Given the description of an element on the screen output the (x, y) to click on. 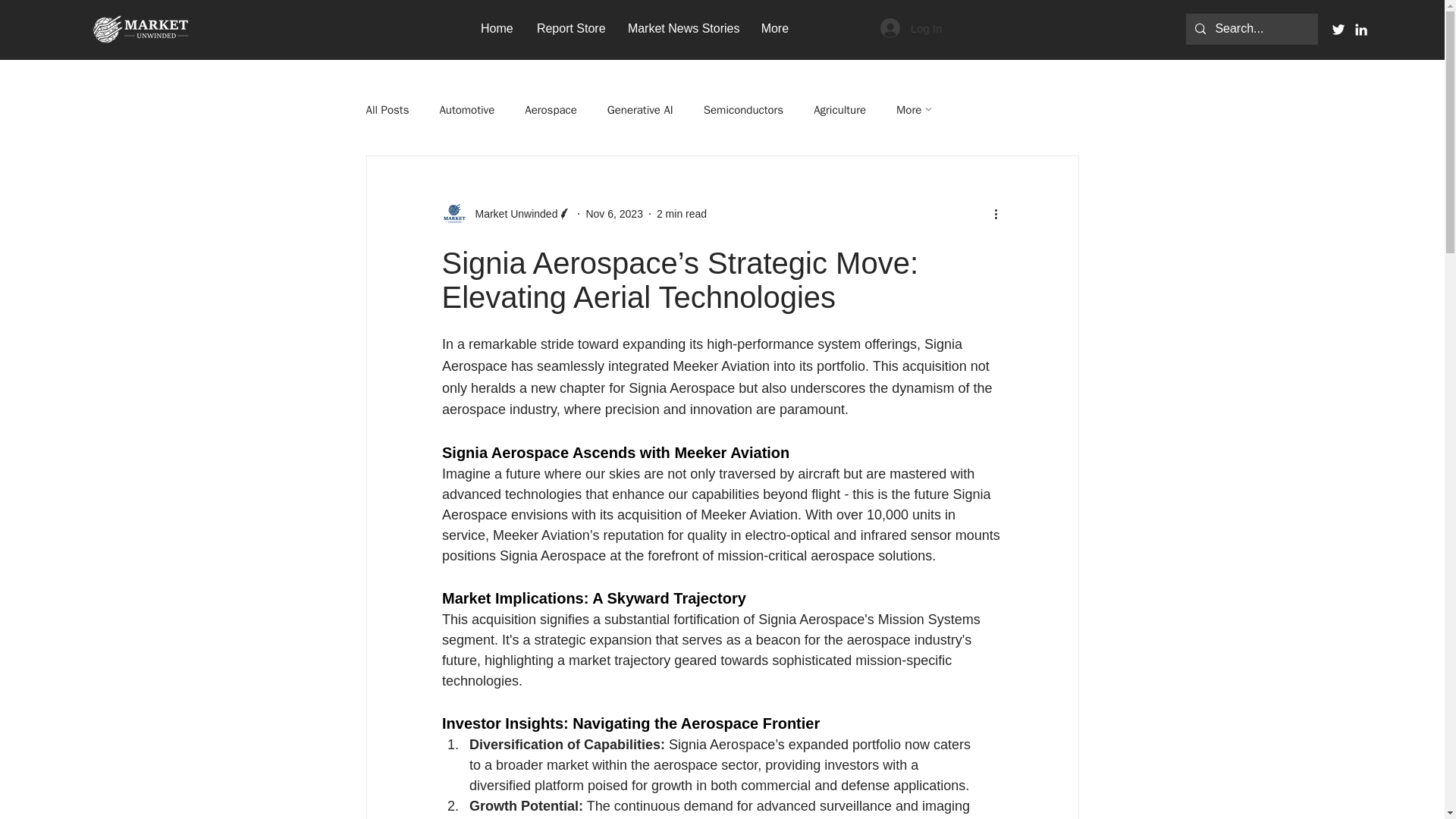
Market Unwinded (506, 213)
Nov 6, 2023 (614, 214)
Automotive (467, 110)
All Posts (387, 110)
Market News Stories (682, 27)
Home (496, 27)
Aerospace (550, 110)
Semiconductors (743, 110)
Agriculture (839, 110)
Report Store (570, 27)
Generative AI (639, 110)
Log In (911, 27)
2 min read (681, 214)
Market Unwinded (511, 213)
Market Unwinded Logo.png (140, 29)
